Given the description of an element on the screen output the (x, y) to click on. 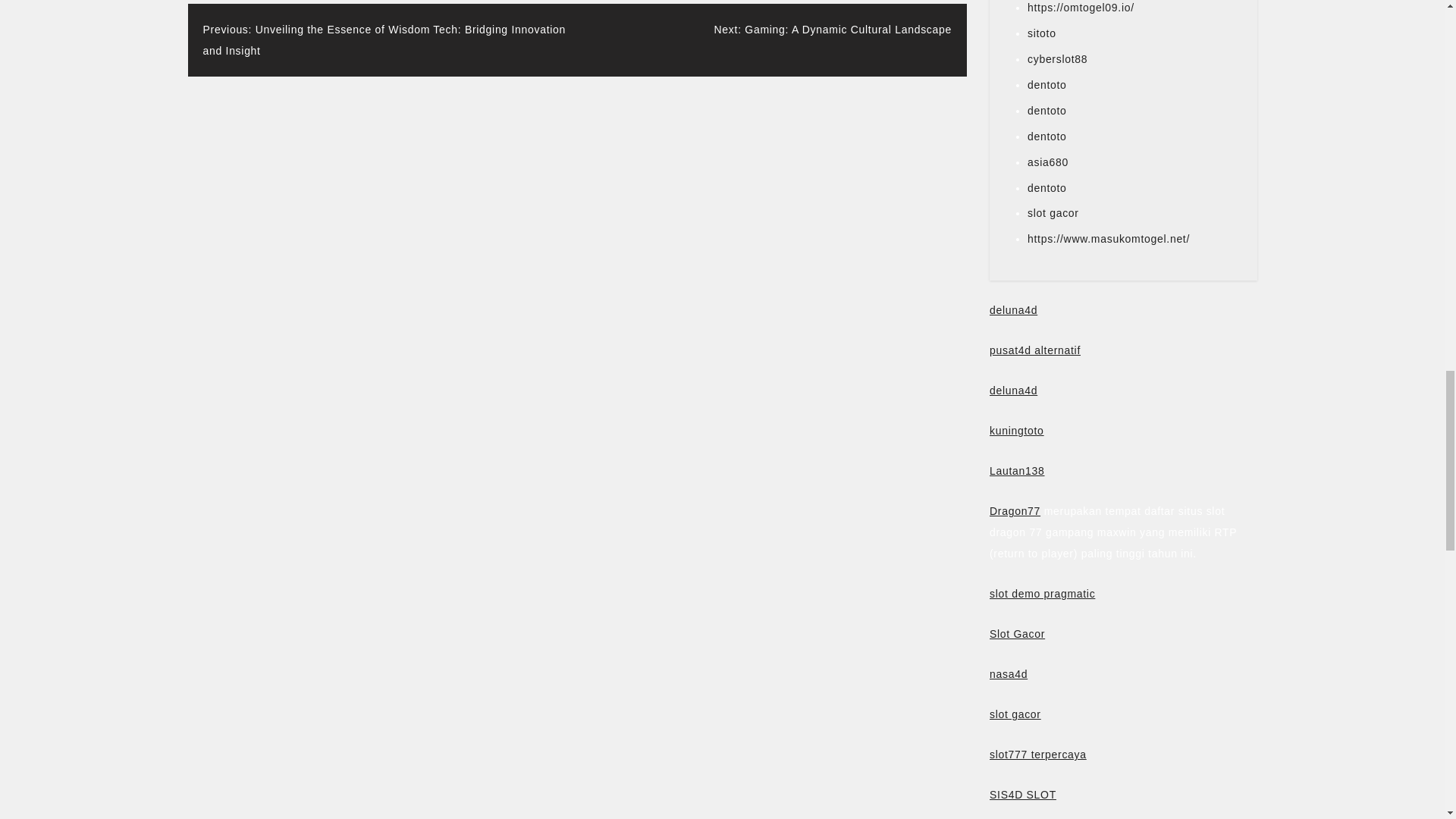
Next: Gaming: A Dynamic Cultural Landscape (833, 29)
